Given the description of an element on the screen output the (x, y) to click on. 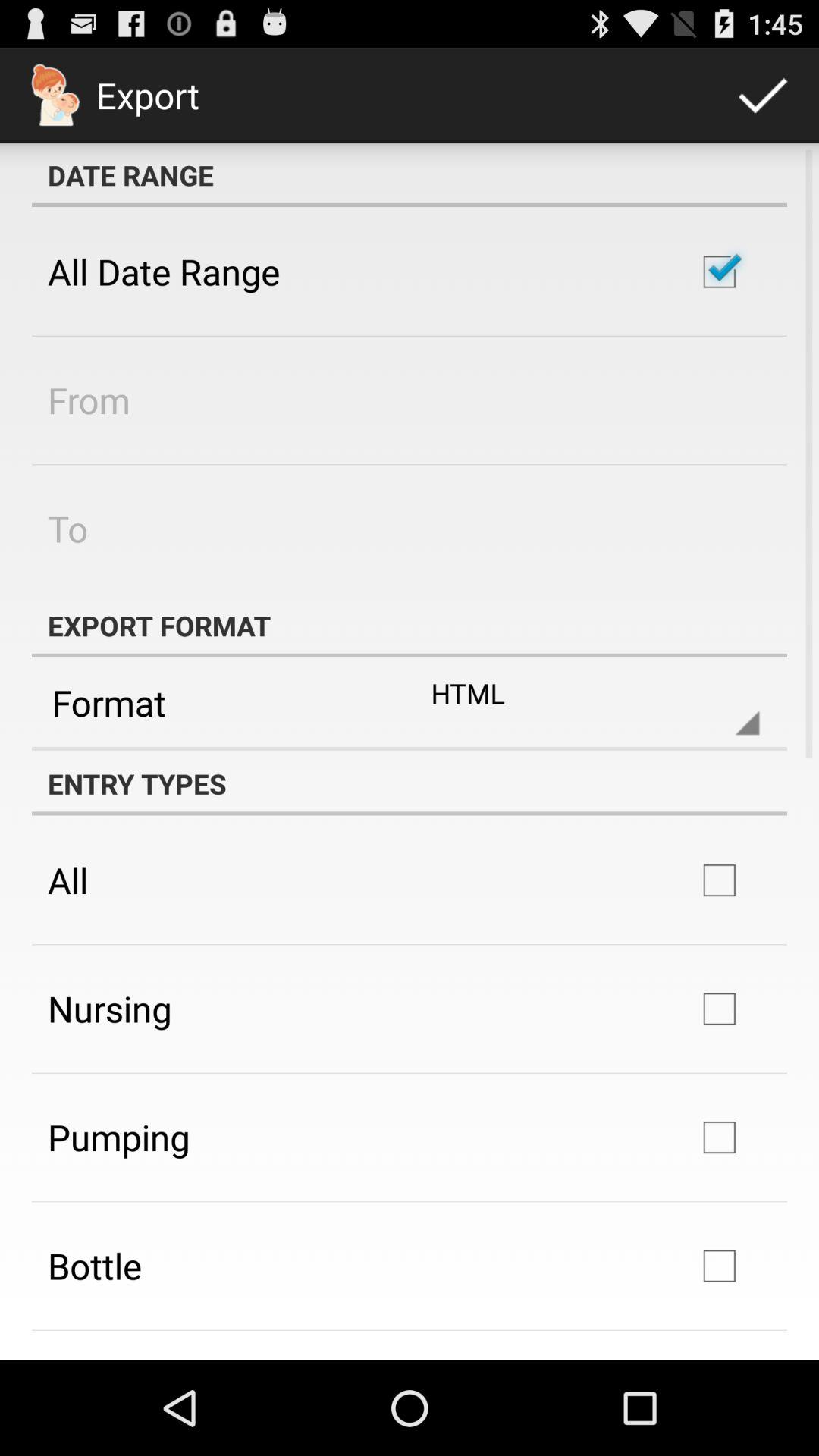
tap pumping (118, 1137)
